Given the description of an element on the screen output the (x, y) to click on. 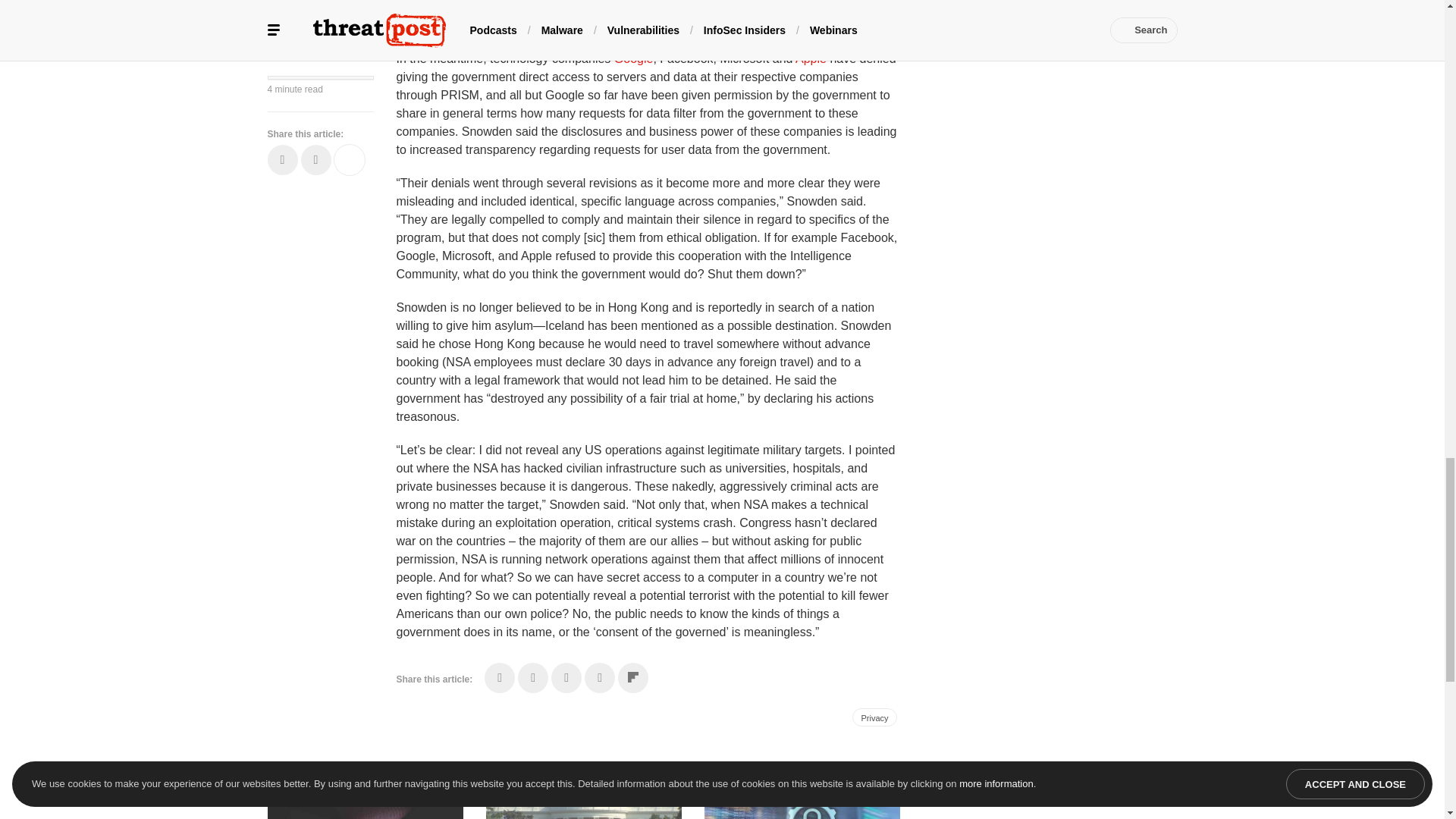
Apple (811, 58)
Share via LinkedIn (565, 677)
Privacy (873, 717)
Share via Facebook (499, 677)
Share via Reddit (599, 677)
Google (633, 58)
SUGGESTED ARTICLES (319, 775)
Share via Twitter (533, 677)
